Given the description of an element on the screen output the (x, y) to click on. 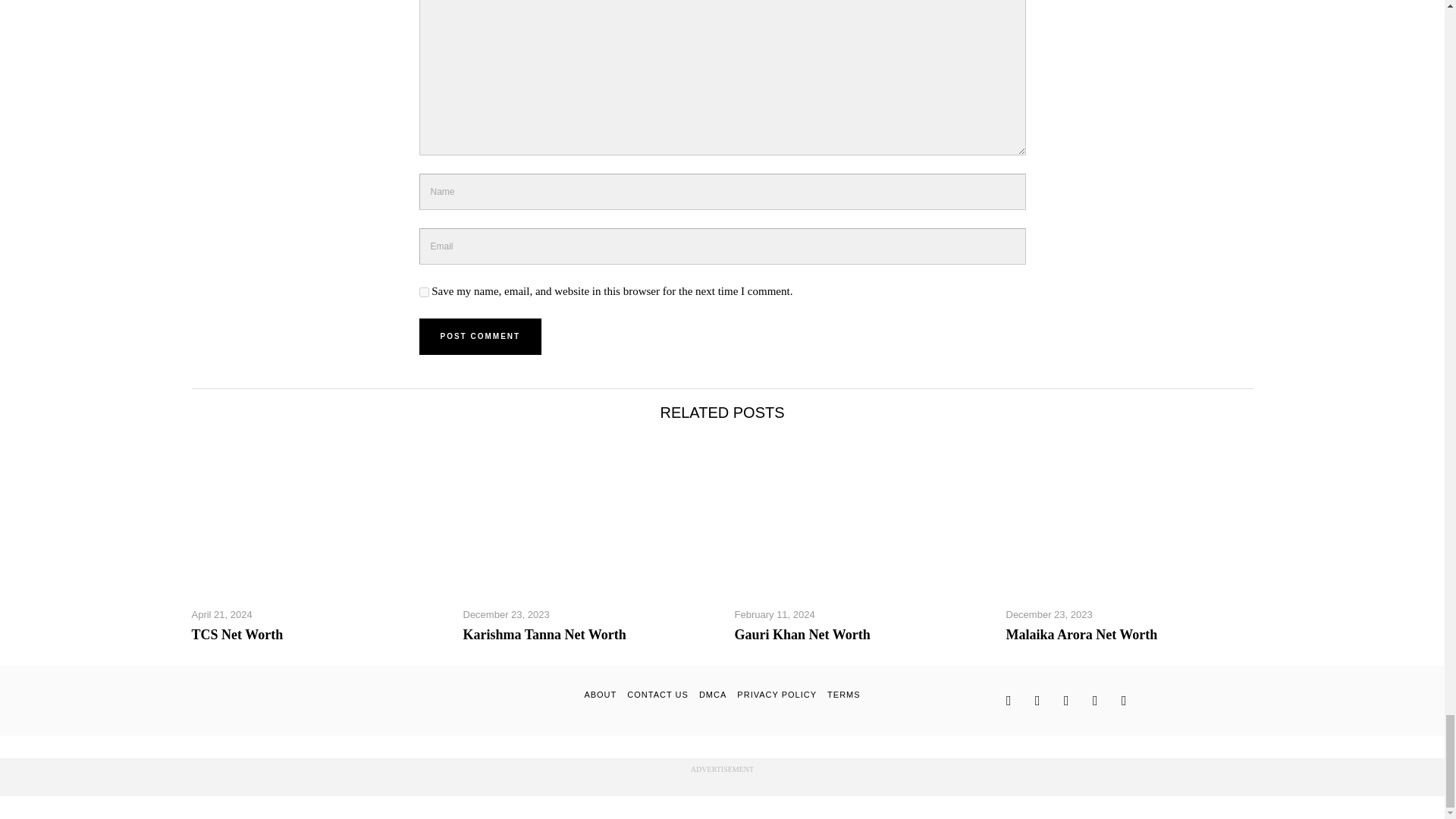
23 Dec, 2023 13:13:23 (1049, 614)
23 Dec, 2023 13:04:23 (505, 614)
Post Comment (480, 336)
21 Apr, 2024 13:19:25 (220, 614)
yes (423, 292)
11 Feb, 2024 10:57:36 (773, 614)
